Given the description of an element on the screen output the (x, y) to click on. 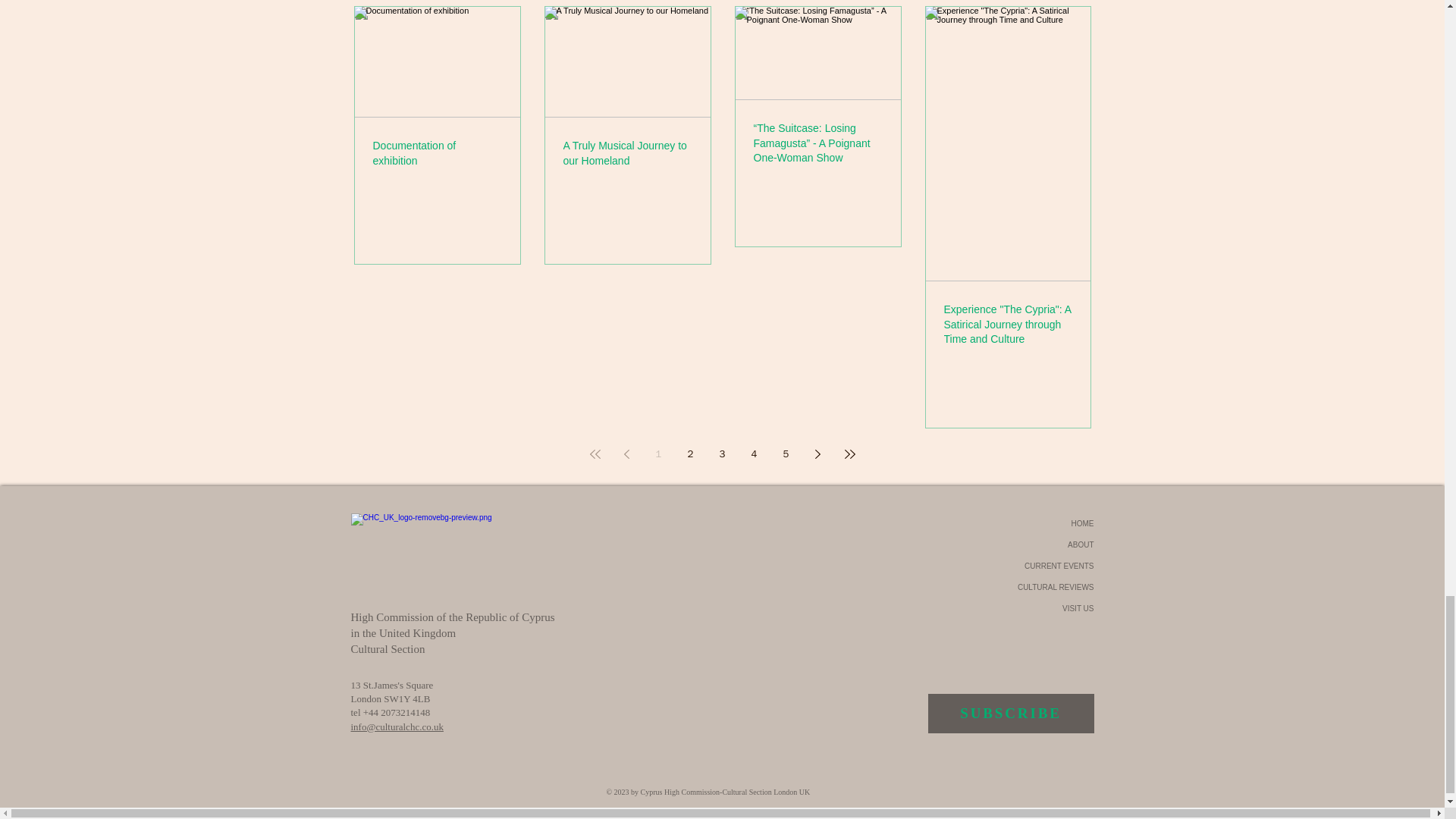
A Truly Musical Journey to our Homeland (626, 153)
2 (690, 453)
5 (785, 453)
4 (753, 453)
Documentation of exhibition (437, 153)
3 (721, 453)
